Given the description of an element on the screen output the (x, y) to click on. 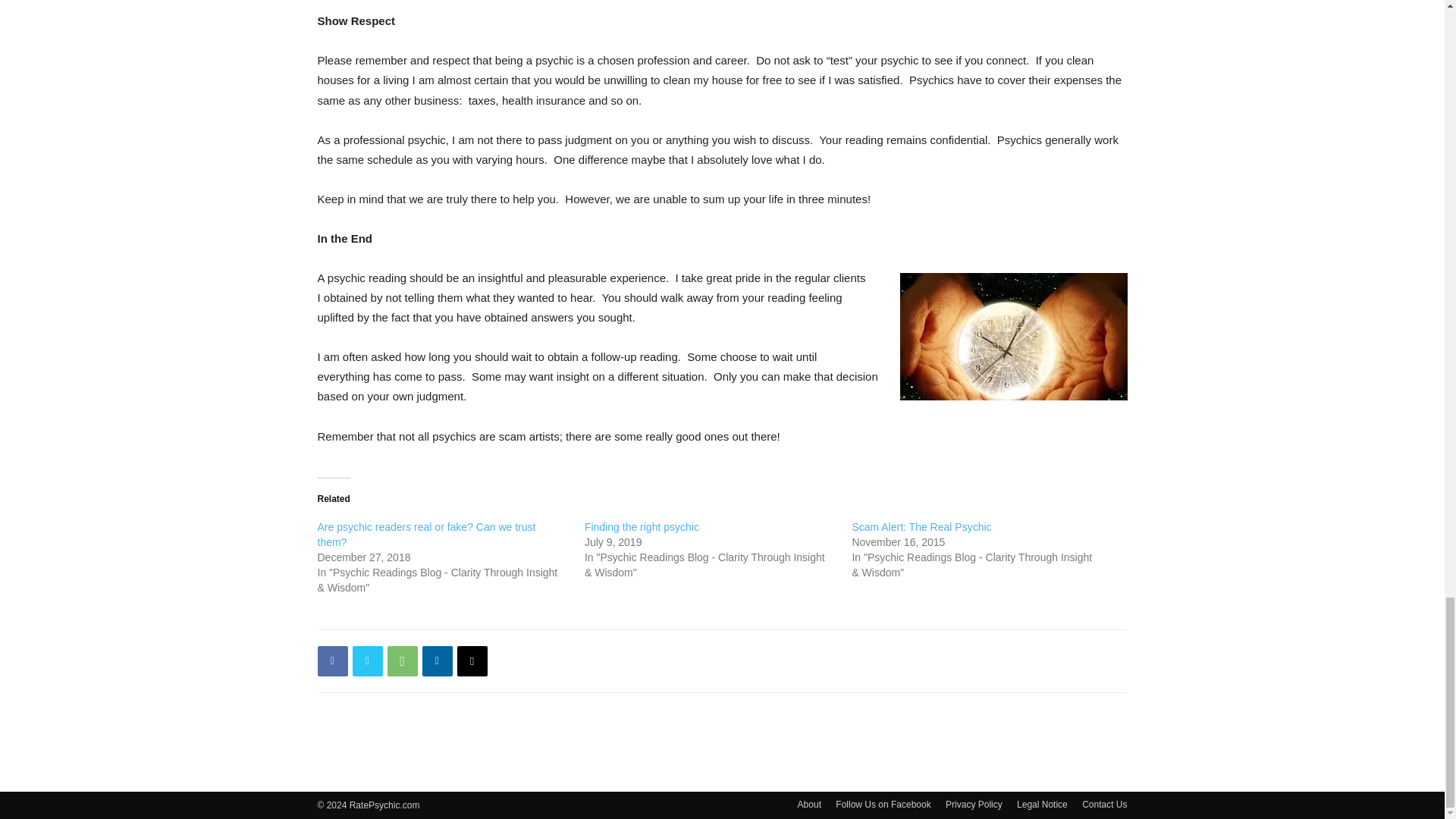
Are psychic readers real or fake? Can we trust them? (426, 533)
Scam Alert: The Real Psychic (921, 526)
Twitter (366, 661)
Finding the right psychic (641, 526)
Linkedin (436, 661)
Contact Us (1103, 804)
About (809, 804)
Follow Us on Facebook (882, 804)
Finding the right psychic (641, 526)
Scam Alert: The Real Psychic (921, 526)
Facebook (332, 661)
WhatsApp (401, 661)
Privacy Policy (973, 804)
Email (471, 661)
Legal Notice (1041, 804)
